Given the description of an element on the screen output the (x, y) to click on. 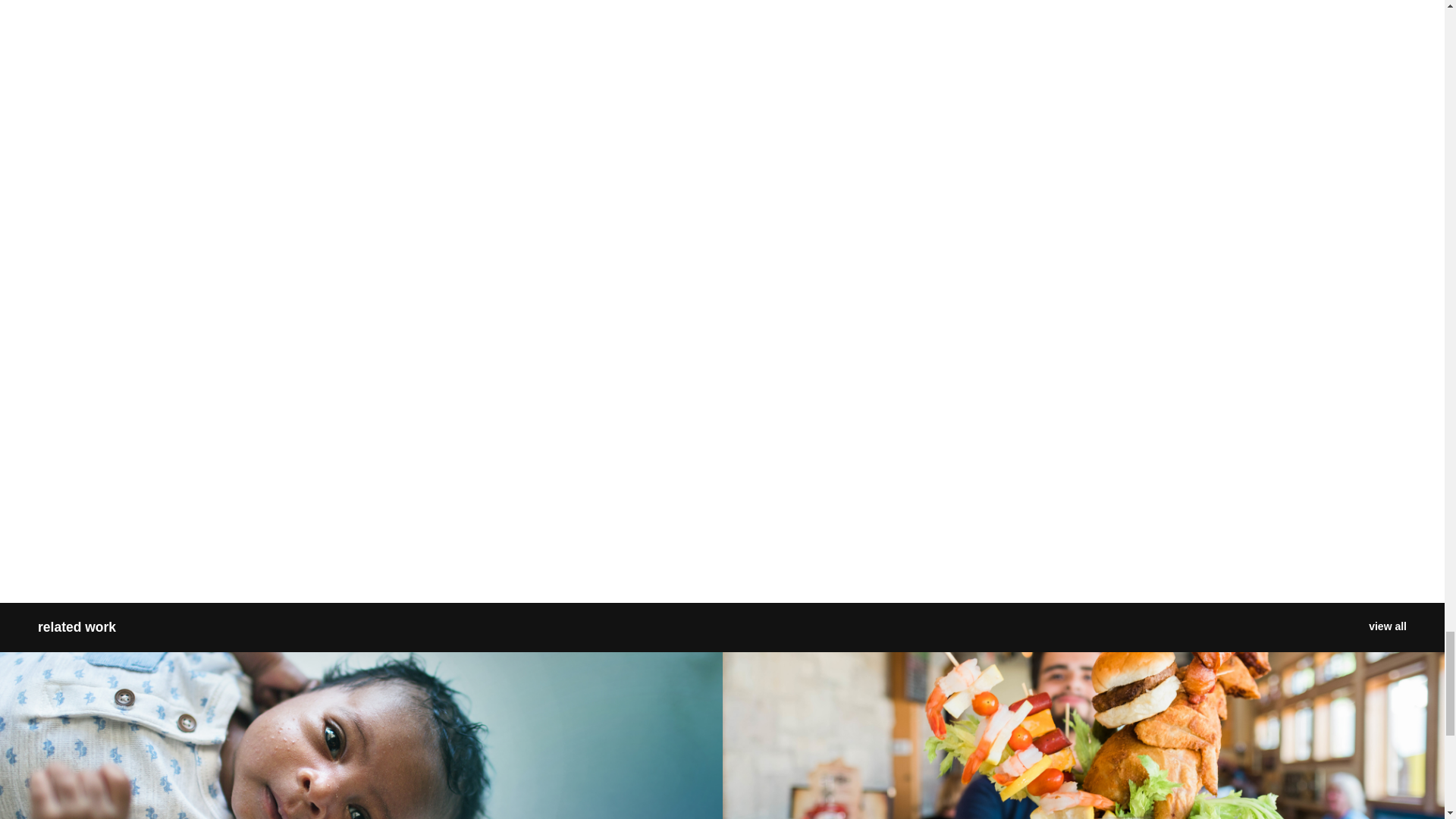
view all (1387, 628)
